Given the description of an element on the screen output the (x, y) to click on. 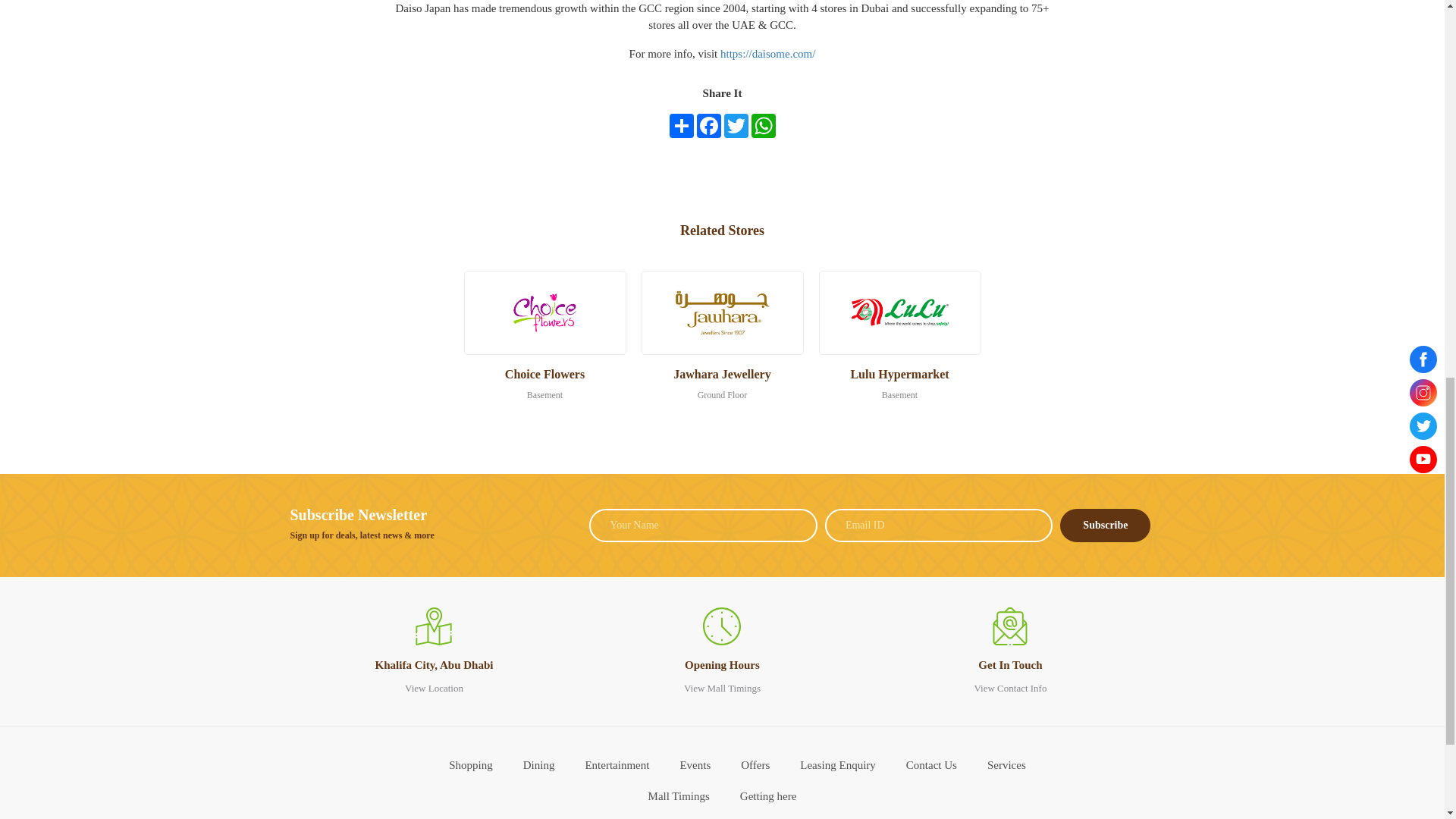
Facebook (708, 125)
WhatsApp (762, 125)
Twitter (735, 125)
Share (680, 125)
